Given the description of an element on the screen output the (x, y) to click on. 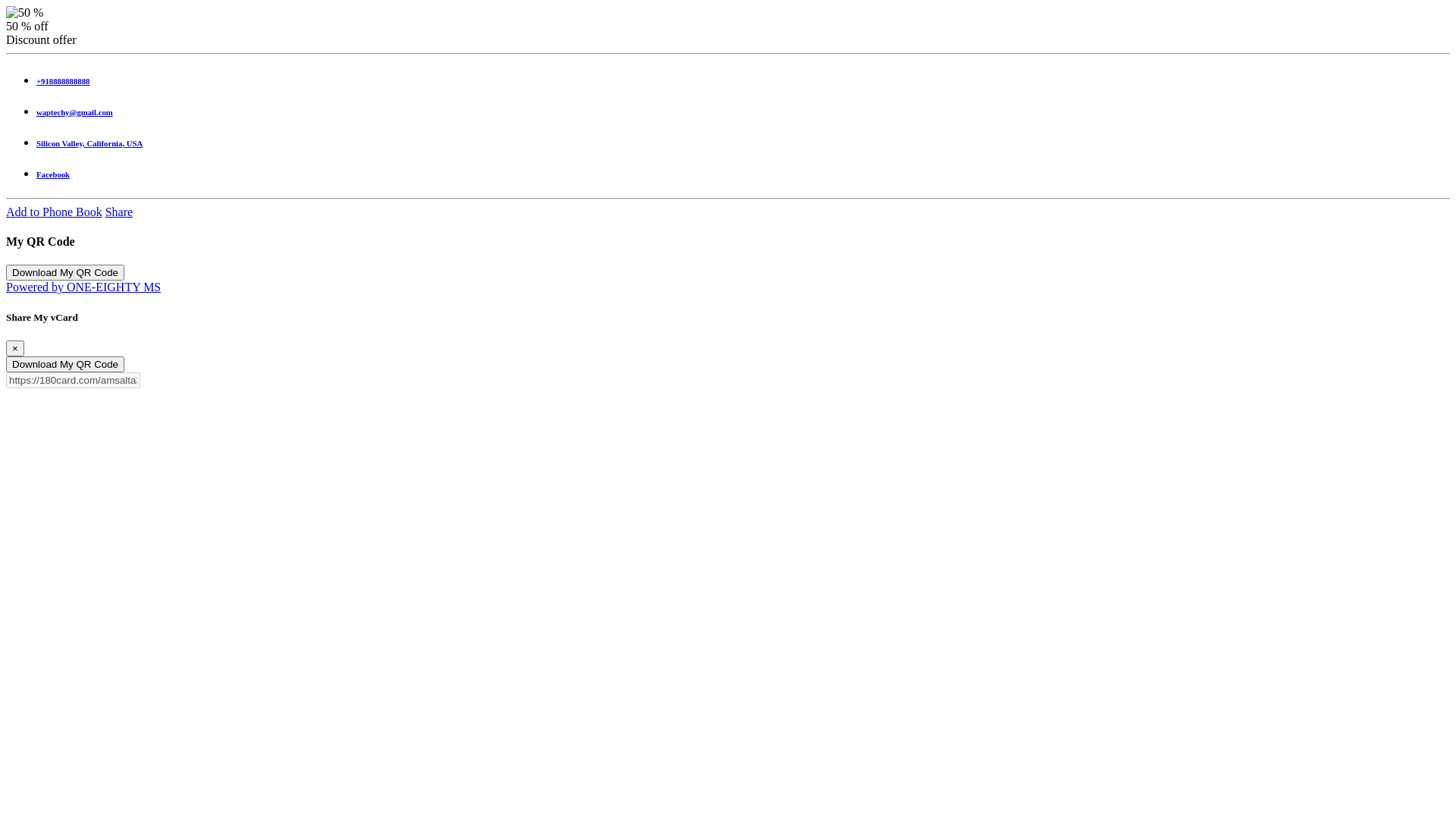
Powered by ONE-EIGHTY MS Element type: text (83, 286)
Download My QR Code Element type: text (65, 272)
Facebook Element type: text (742, 173)
Add to Phone Book Element type: text (54, 211)
Download My QR Code Element type: text (65, 364)
+918888888888 Element type: text (742, 80)
Share Element type: text (118, 211)
waptechy@gmail.com Element type: text (742, 111)
Silicon Valley, California, USA Element type: text (742, 142)
